Given the description of an element on the screen output the (x, y) to click on. 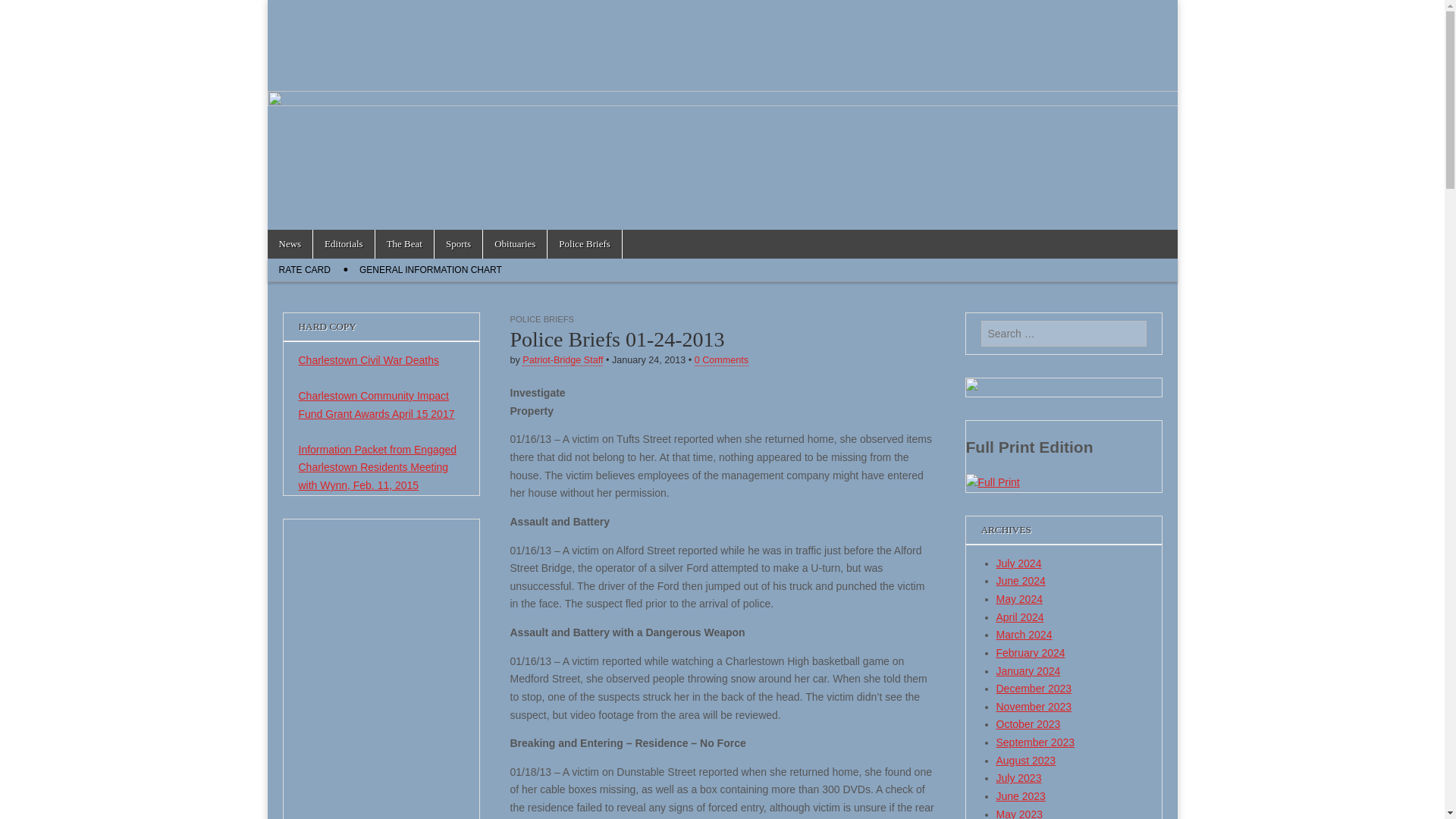
The Beat (404, 244)
Posts by Patriot-Bridge Staff (562, 360)
0 Comments (721, 360)
Obituaries (515, 244)
RATE CARD (303, 269)
Search (23, 12)
Patriot-Bridge Staff (562, 360)
Sports (457, 244)
GENERAL INFORMATION CHART (430, 269)
Charlestown Civil War Deaths (368, 359)
Police Briefs (584, 244)
Editorials (343, 244)
